Given the description of an element on the screen output the (x, y) to click on. 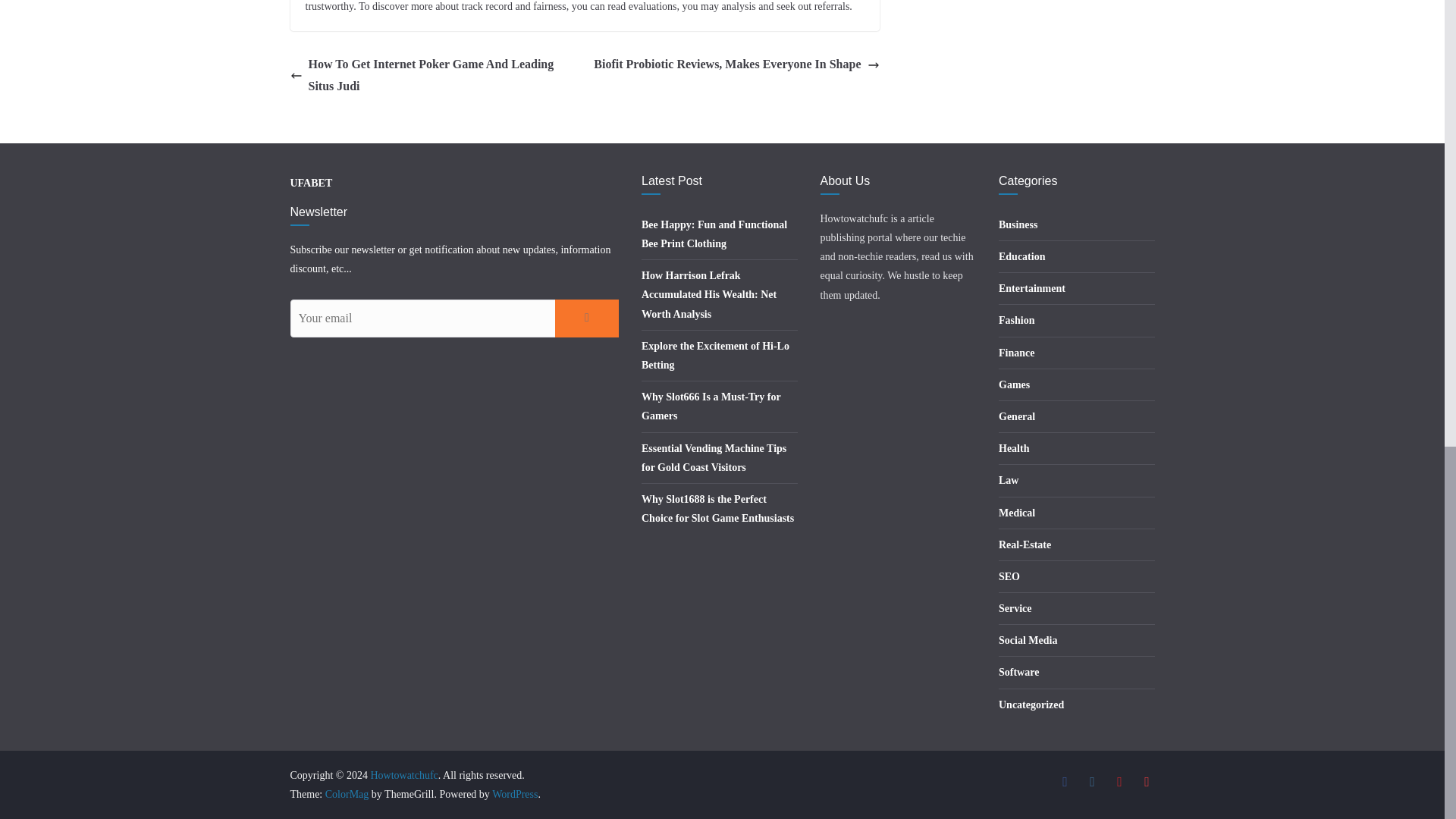
Law (1007, 480)
Why Slot1688 is the Perfect Choice for Slot Game Enthusiasts (717, 508)
WordPress (514, 794)
Biofit Probiotic Reviews, Makes Everyone In Shape (736, 65)
Fashion (1015, 319)
Real-Estate (1024, 544)
Health (1013, 448)
Software (1018, 672)
Service (1015, 608)
Business (1017, 224)
